Given the description of an element on the screen output the (x, y) to click on. 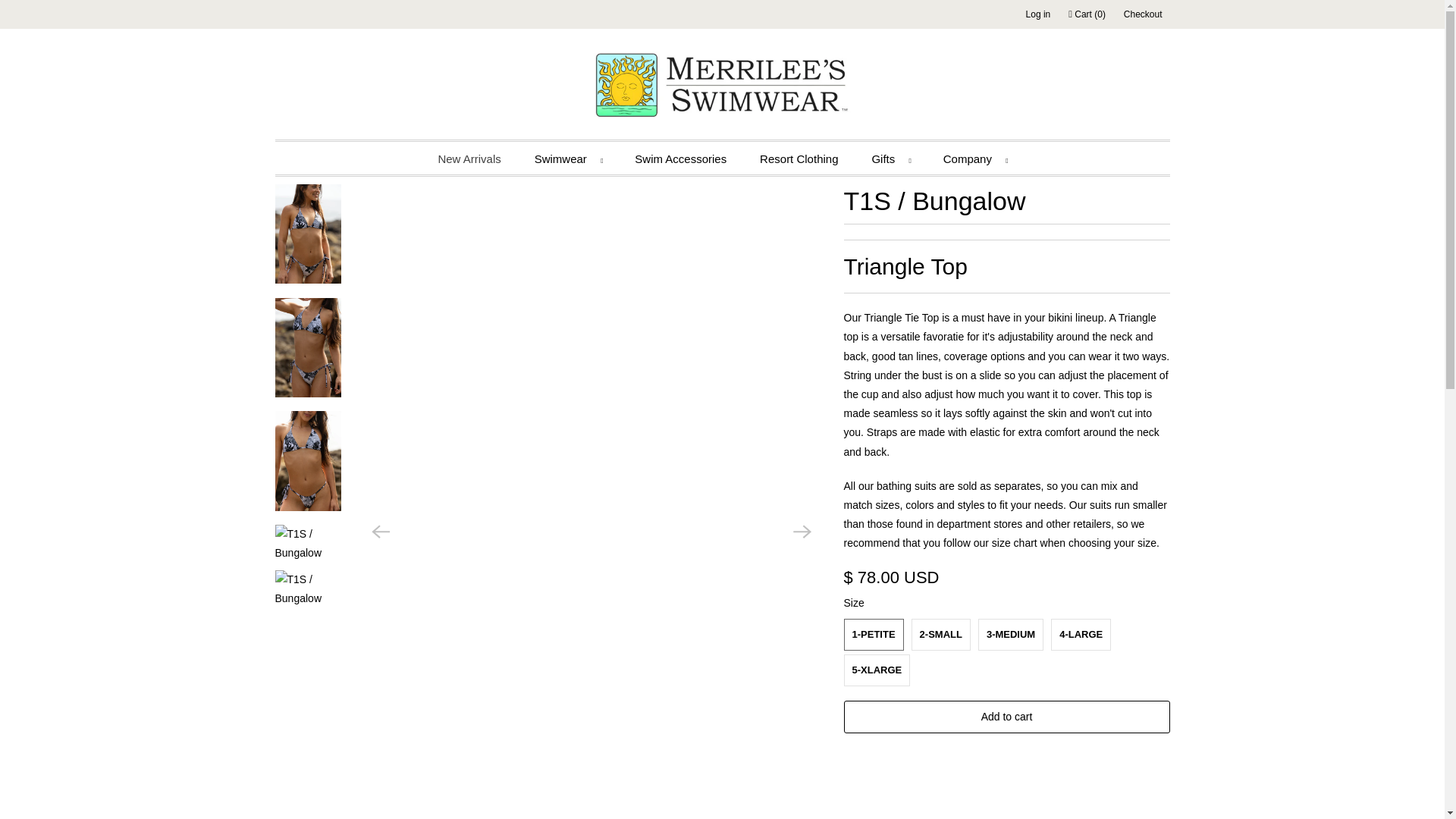
Merrilee's Swimwear (722, 87)
Checkout (1142, 14)
Log in (1038, 14)
Swim Accessories (680, 158)
New Arrivals (469, 158)
Resort Clothing (799, 158)
